Given the description of an element on the screen output the (x, y) to click on. 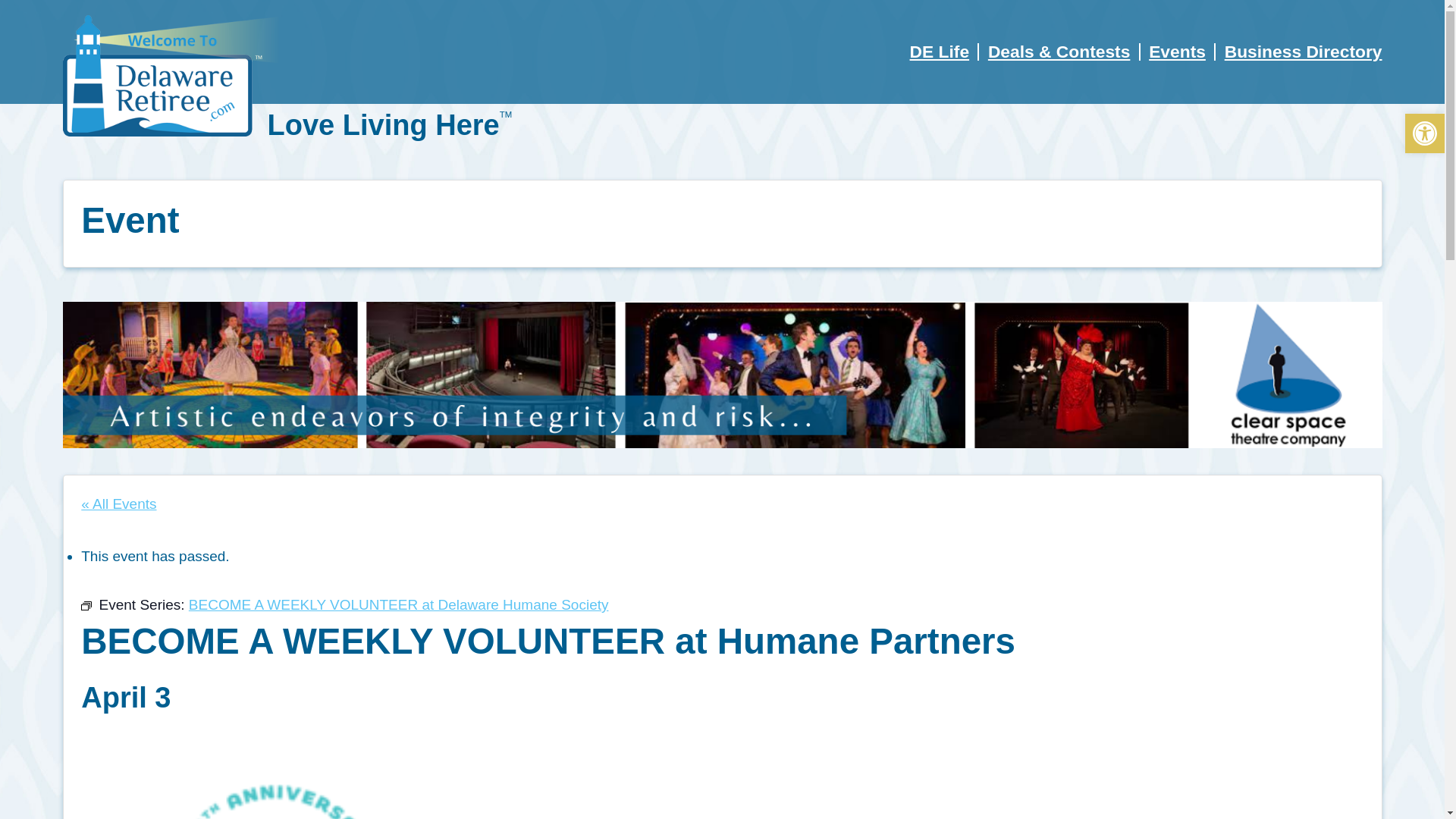
Event Series (86, 605)
BECOME A WEEKLY VOLUNTEER at Delaware Humane Society (398, 604)
Delaware Retirees (175, 75)
Business Directory (1302, 51)
DE Life (939, 51)
Accessibility Tools (1424, 133)
Events (1176, 51)
